Given the description of an element on the screen output the (x, y) to click on. 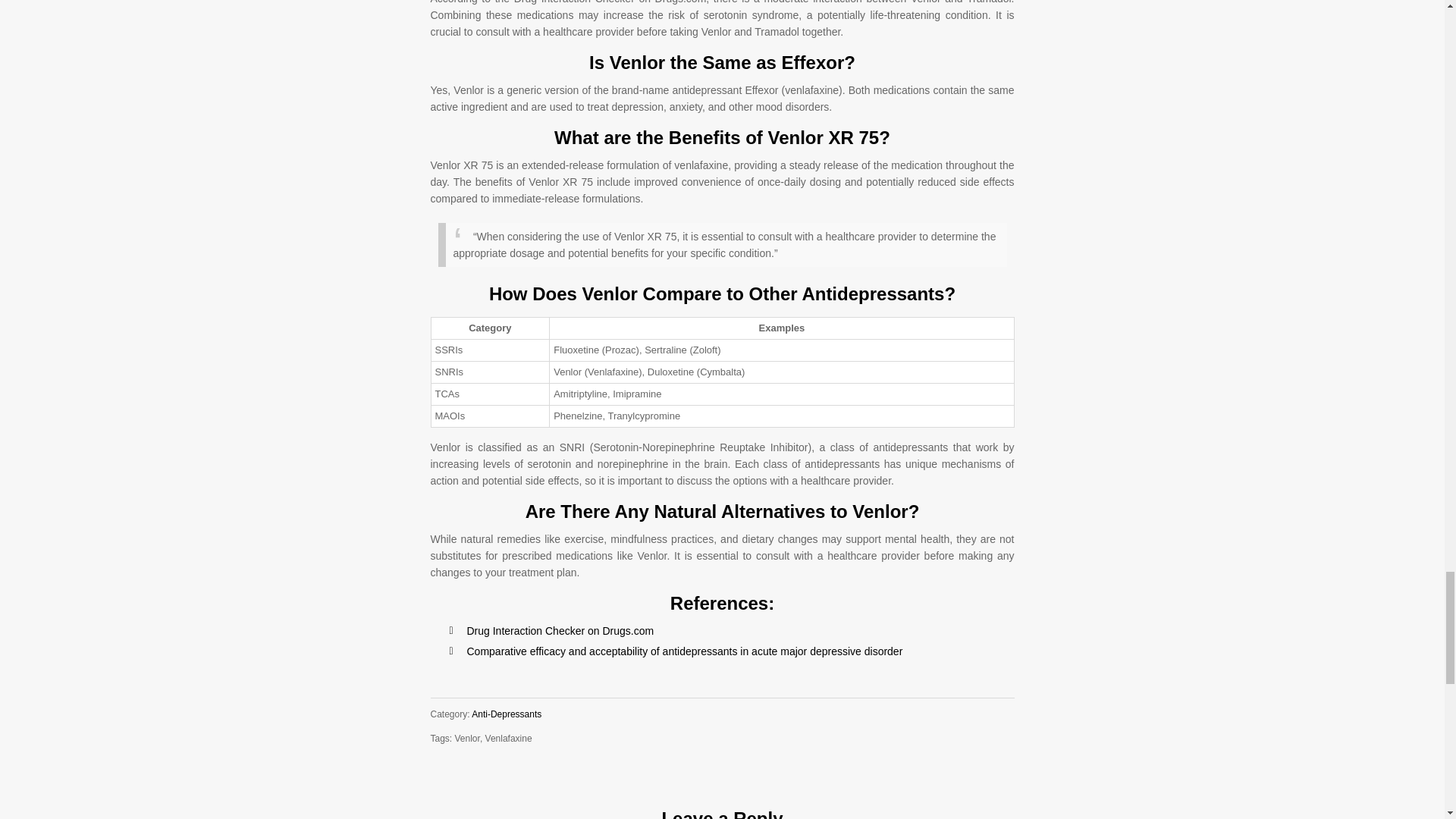
Anti-Depressants (506, 714)
Drug Interaction Checker on Drugs.com (560, 630)
